Given the description of an element on the screen output the (x, y) to click on. 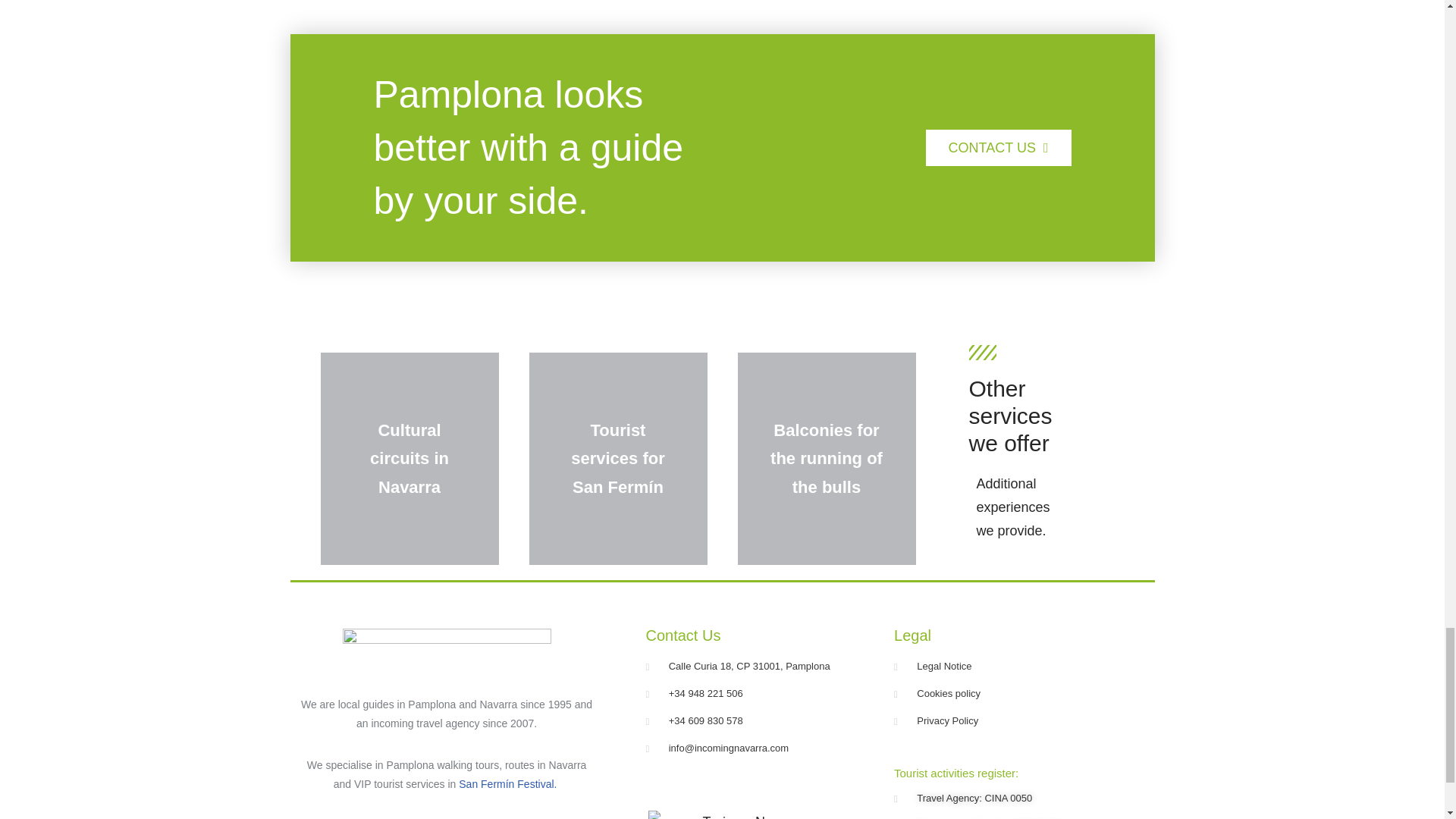
CONTACT US (998, 147)
